Given the description of an element on the screen output the (x, y) to click on. 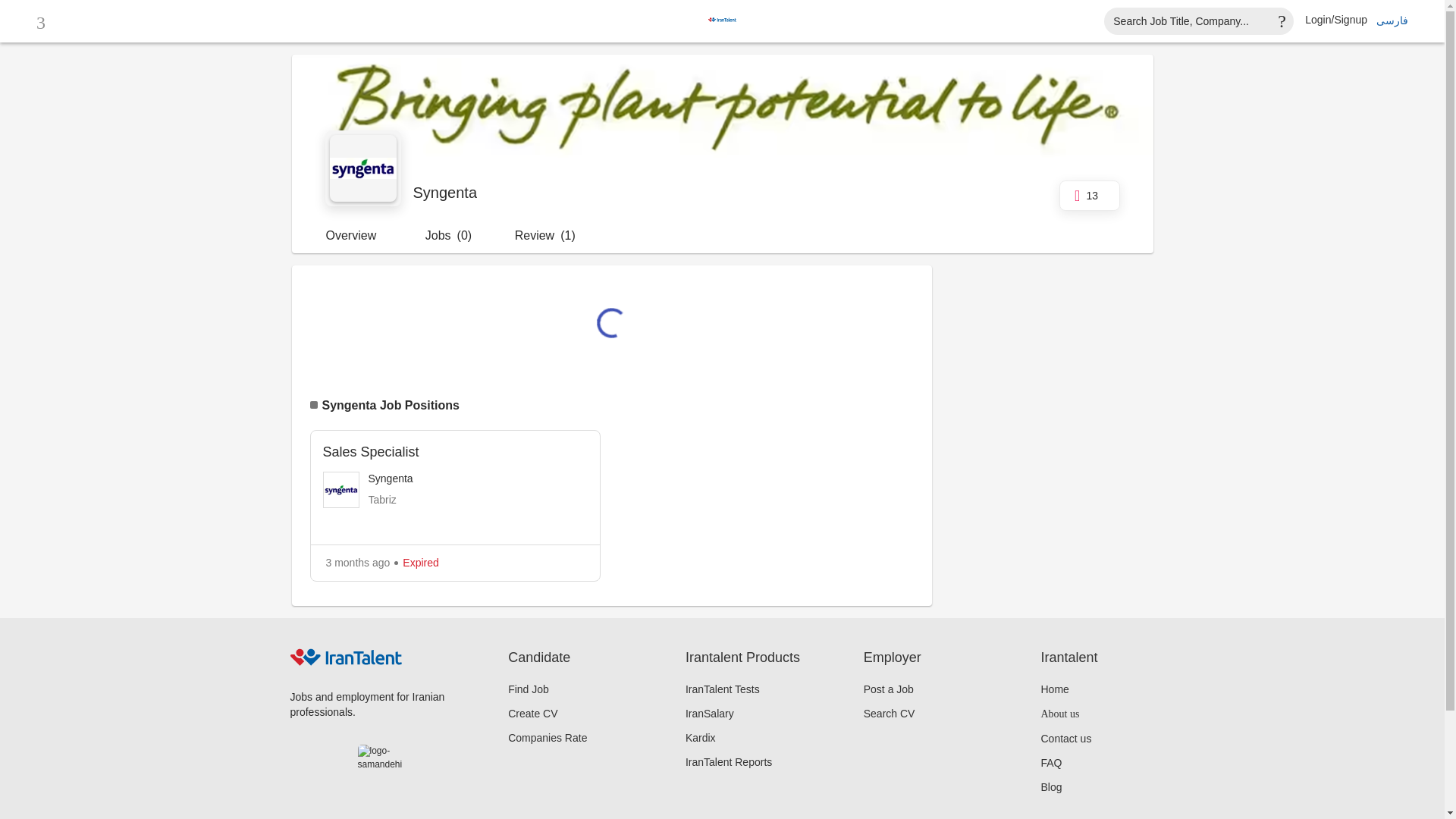
Find Job (528, 689)
Sales Specialist (455, 452)
Home (1054, 688)
Search (1198, 21)
IranTalent Reports (728, 761)
IranSalary (709, 712)
IranTalent Tests (722, 688)
Tabriz (382, 500)
Create CV (532, 713)
Blog (1051, 786)
